Given the description of an element on the screen output the (x, y) to click on. 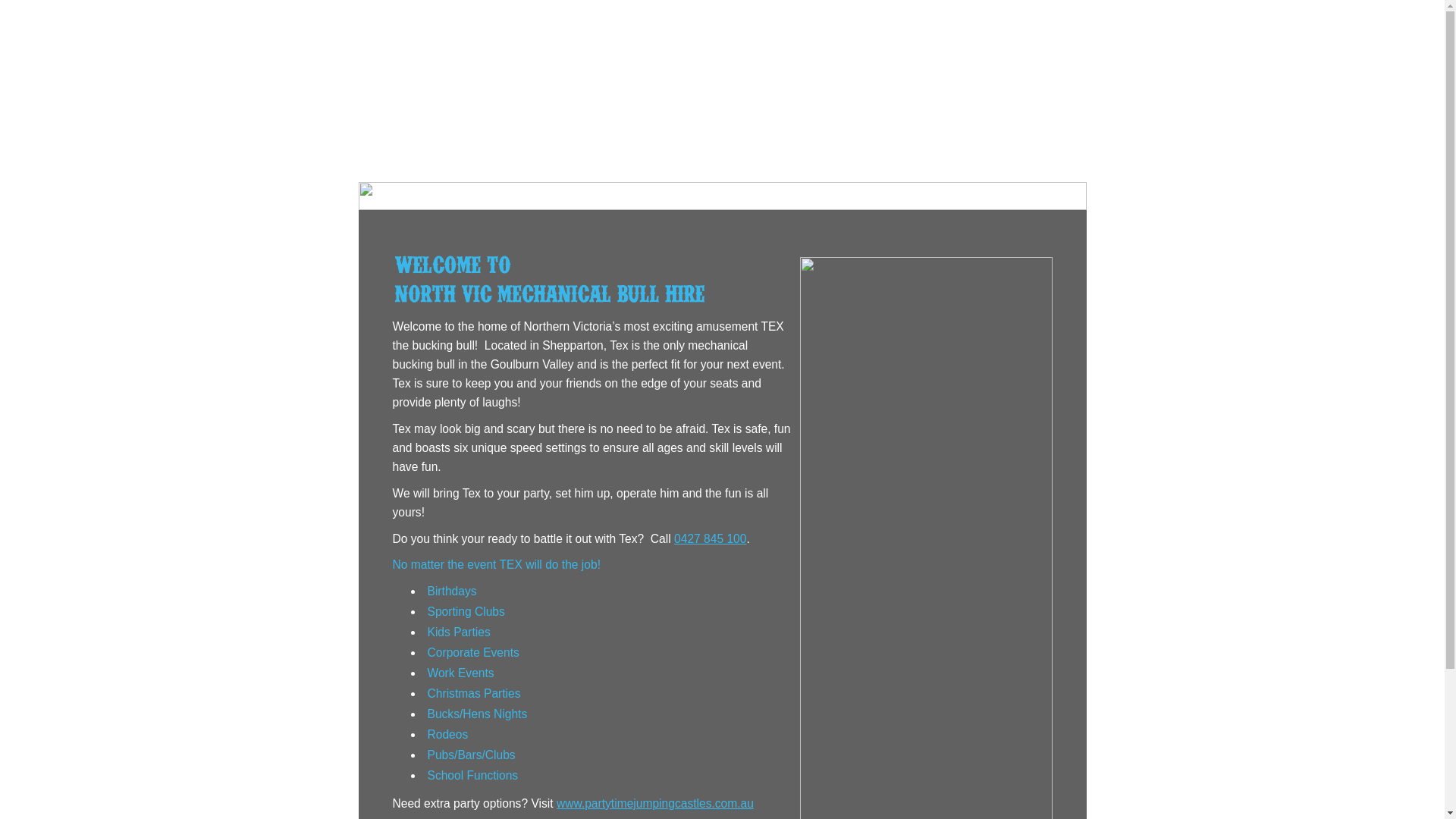
www.partytimejumpingcastles.com.au Element type: text (654, 803)
0427 845 100 Element type: text (710, 538)
